Given the description of an element on the screen output the (x, y) to click on. 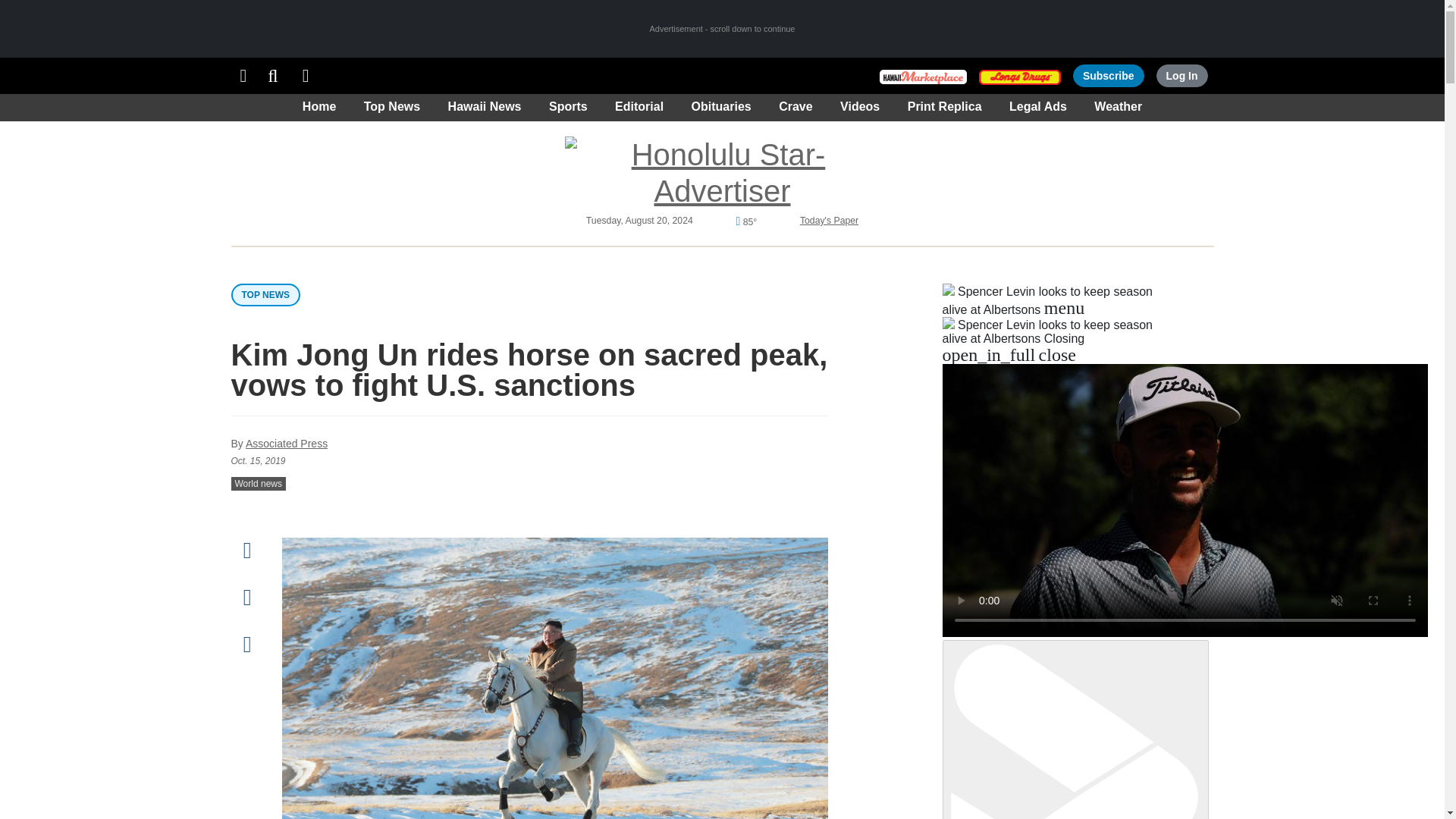
Subscribe (1108, 75)
Log In (1182, 75)
Print Replica (306, 75)
Sections (243, 75)
Search (272, 75)
Honolulu Star-Advertiser (721, 172)
See more stories by Associated Press (286, 443)
